Given the description of an element on the screen output the (x, y) to click on. 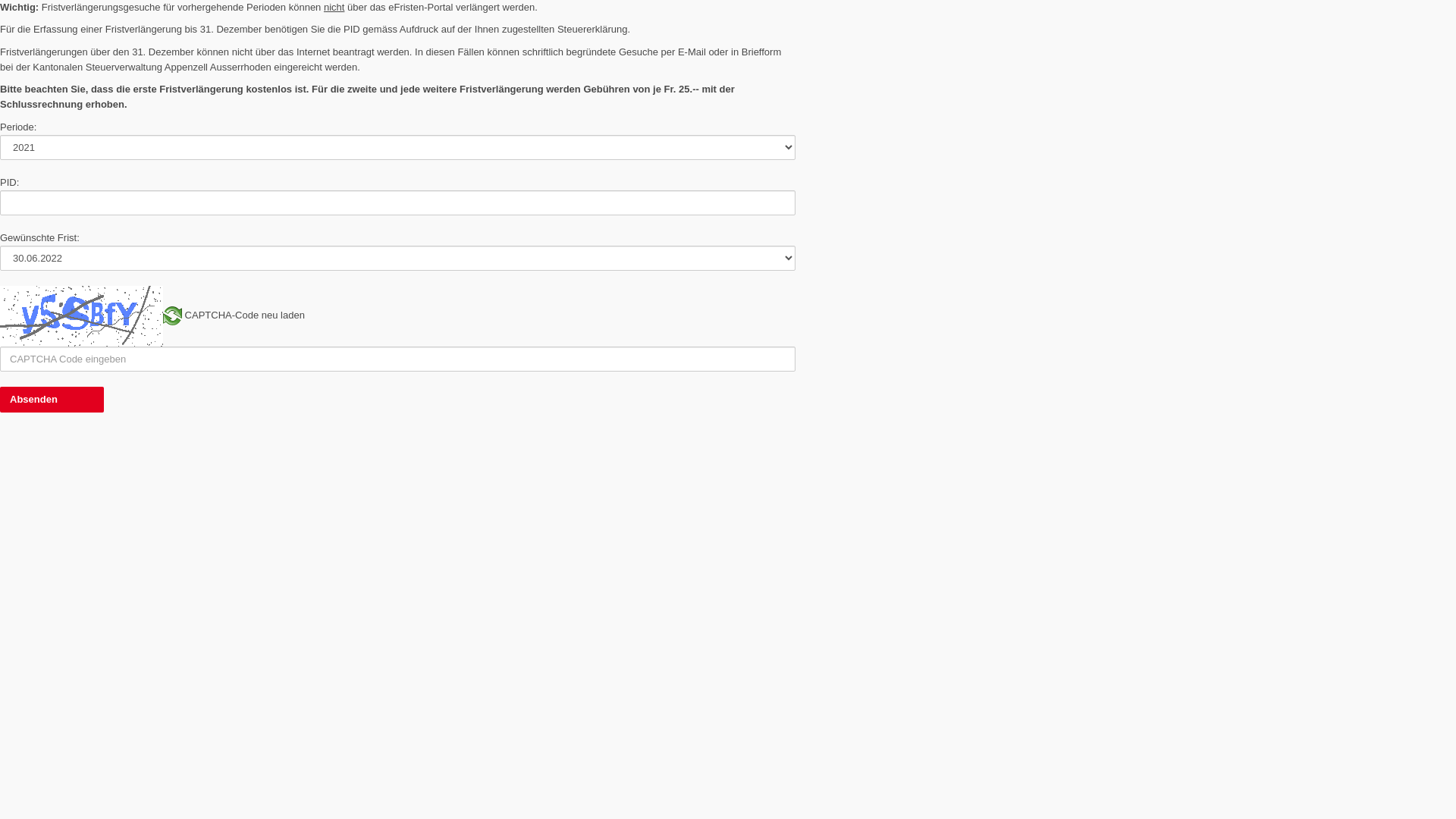
Absenden Element type: text (51, 399)
